Given the description of an element on the screen output the (x, y) to click on. 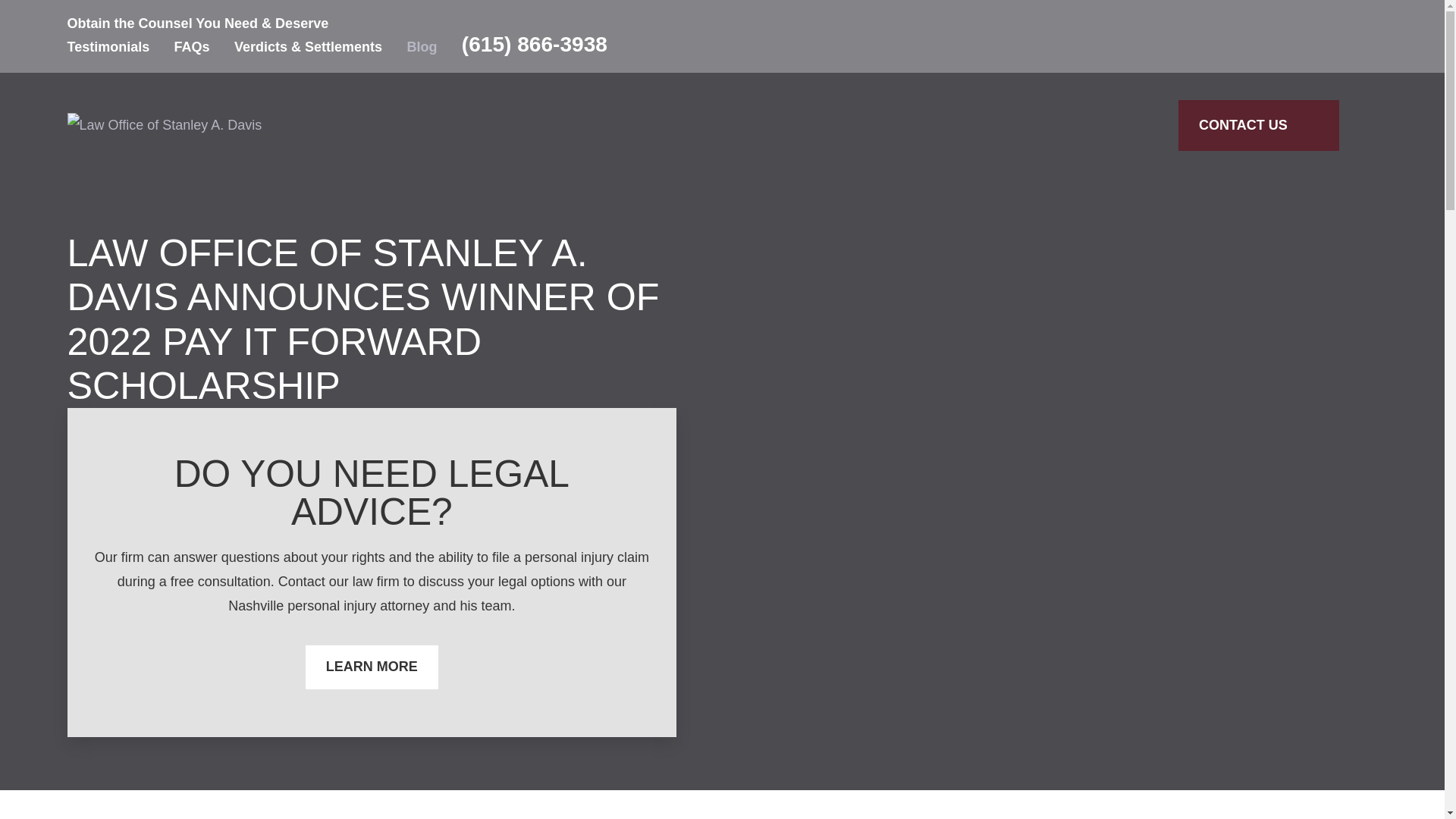
Testimonials (107, 46)
Home (164, 125)
FAQs (191, 46)
Blog (421, 46)
